Given the description of an element on the screen output the (x, y) to click on. 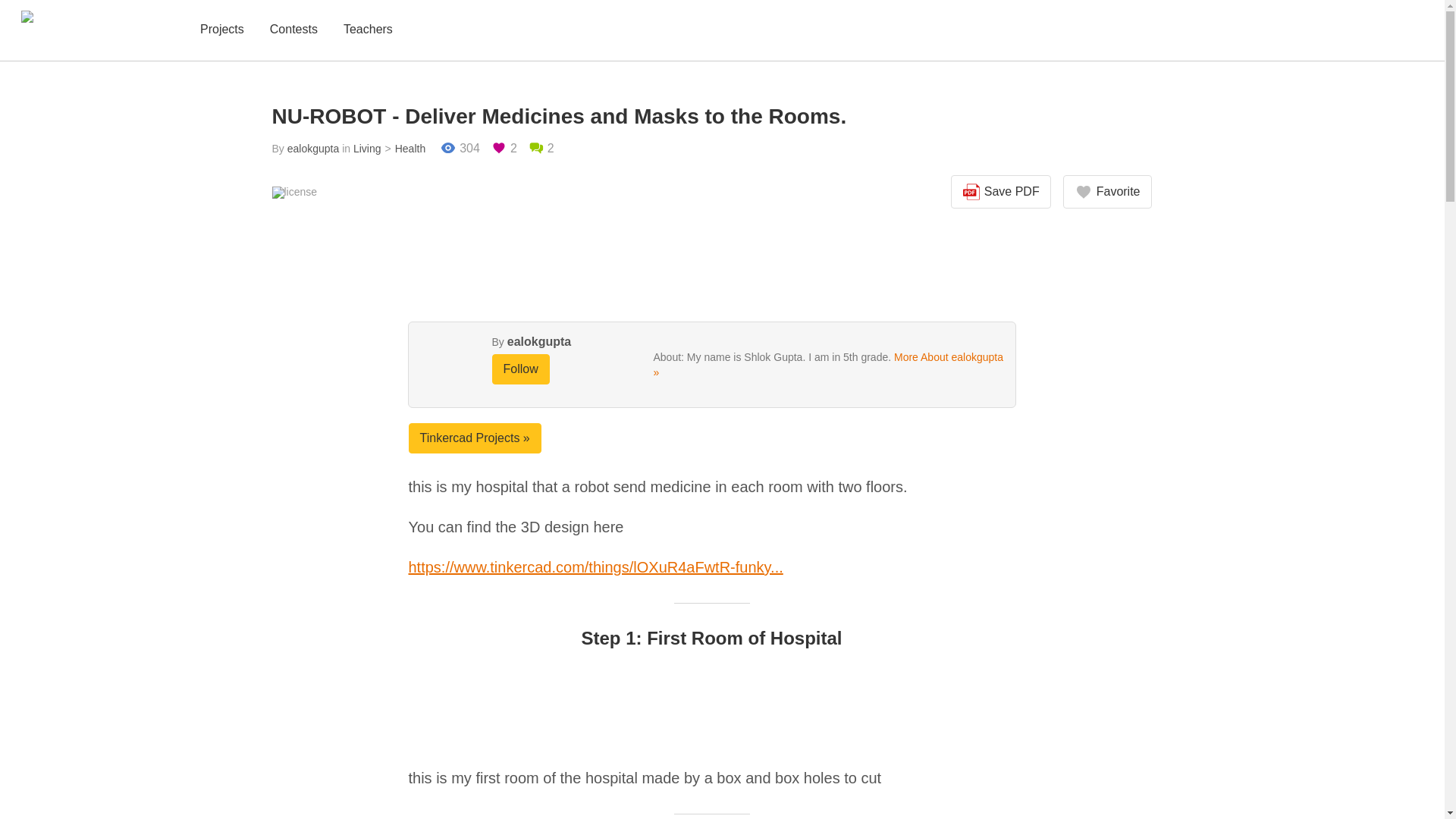
Health (403, 148)
Living (367, 148)
ealokgupta (538, 341)
Favorite (1106, 191)
ealokgupta (312, 148)
Contests (293, 30)
2 (541, 148)
Follow (520, 368)
Save PDF (1000, 191)
Teachers (368, 30)
